Given the description of an element on the screen output the (x, y) to click on. 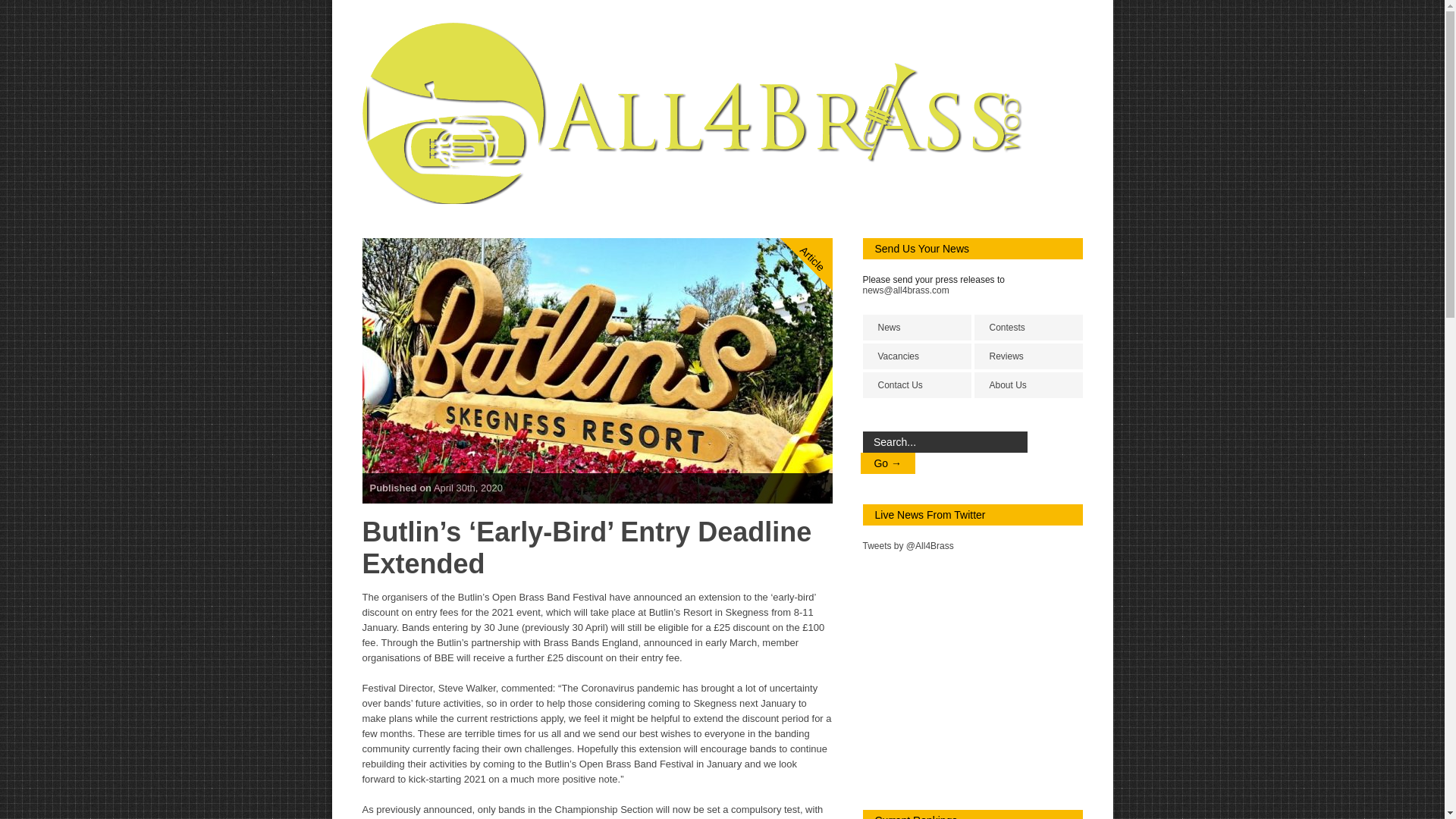
Contests (1027, 327)
News (917, 327)
Vacancies (917, 356)
Contact Us (917, 385)
Article (828, 196)
About Us (1027, 385)
Search... (945, 441)
Search... (945, 441)
Reviews (1027, 356)
